Given the description of an element on the screen output the (x, y) to click on. 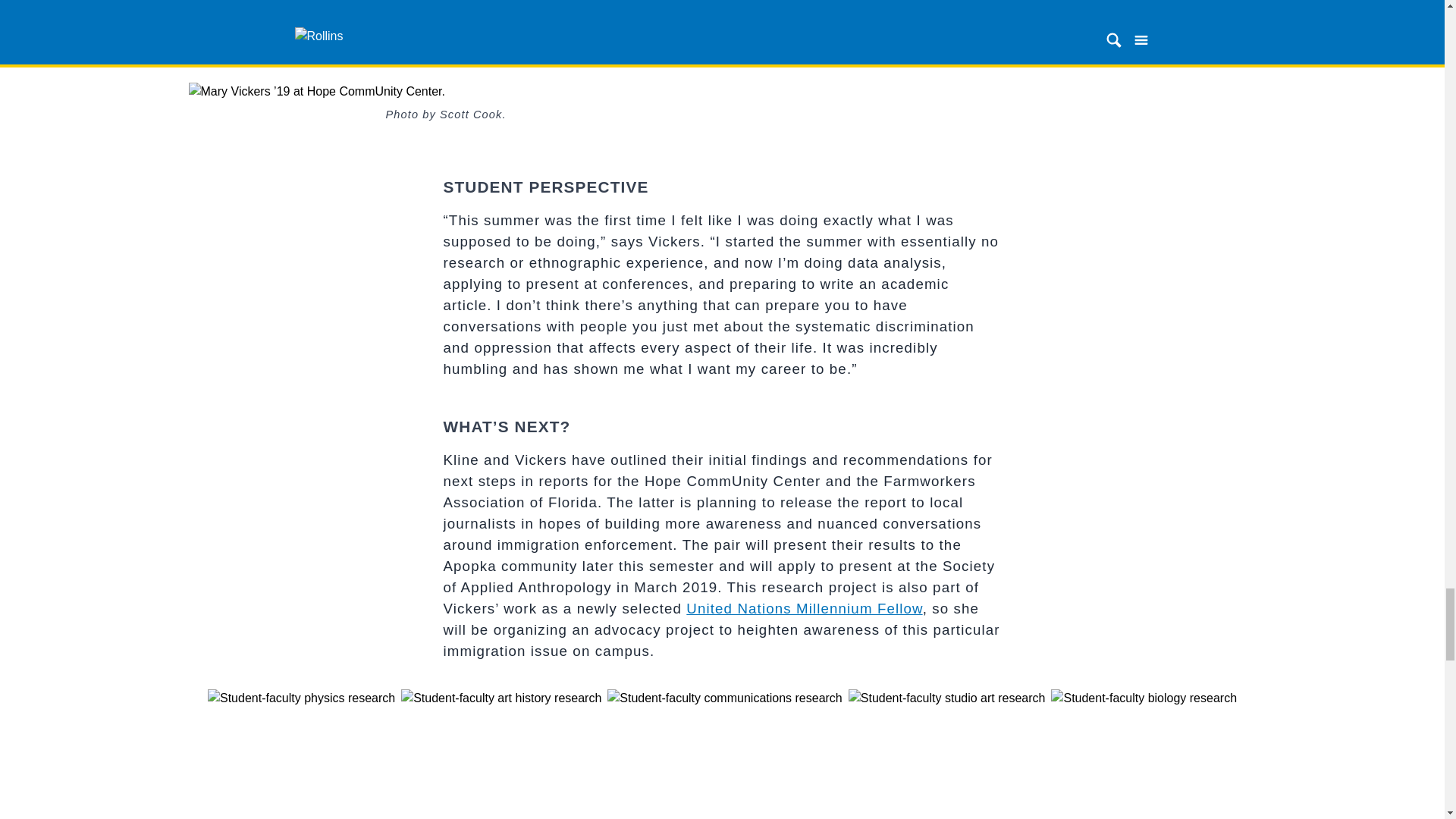
United Nations Millennium Fellow (803, 608)
